Given the description of an element on the screen output the (x, y) to click on. 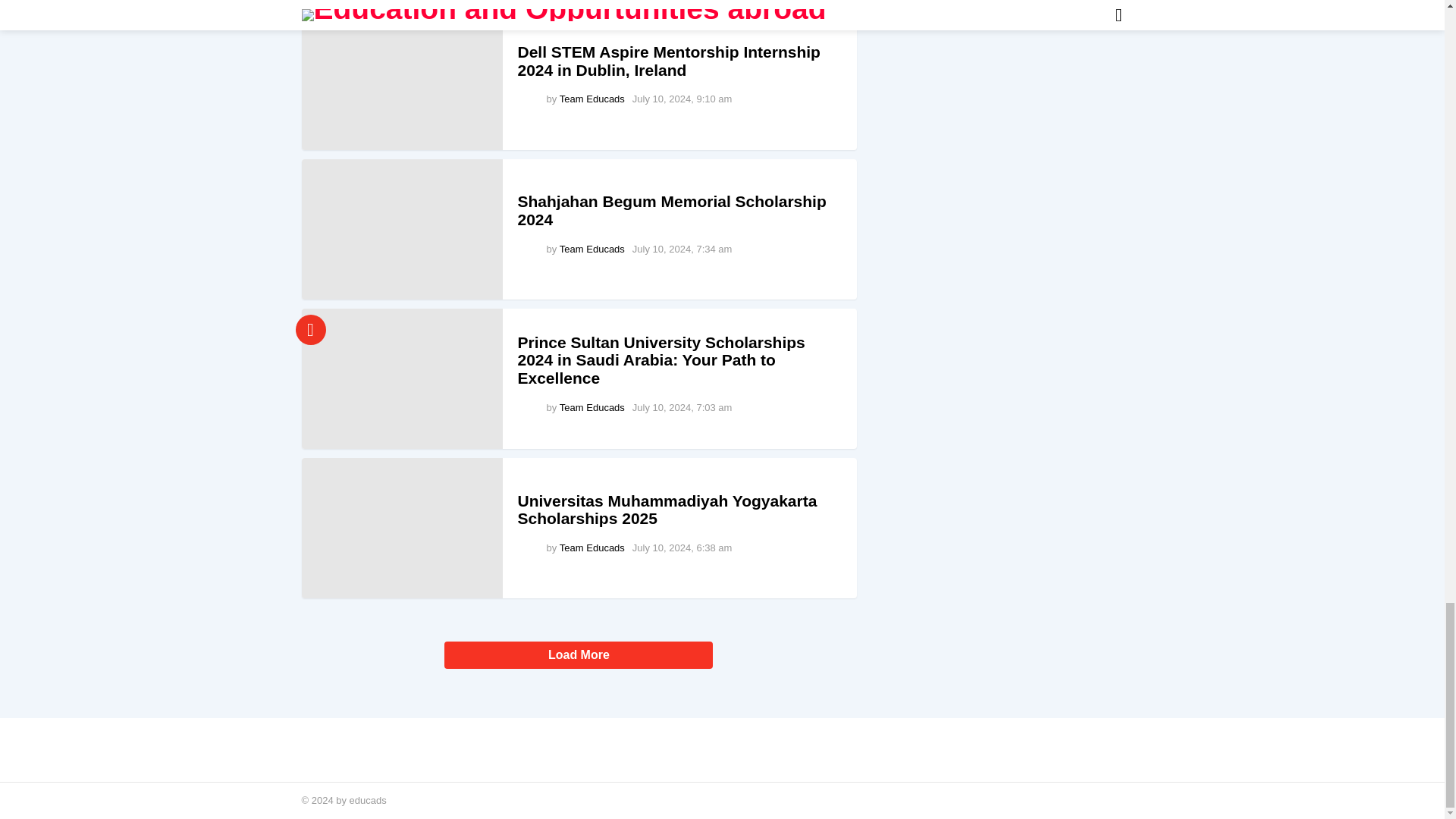
Load More (579, 659)
